Given the description of an element on the screen output the (x, y) to click on. 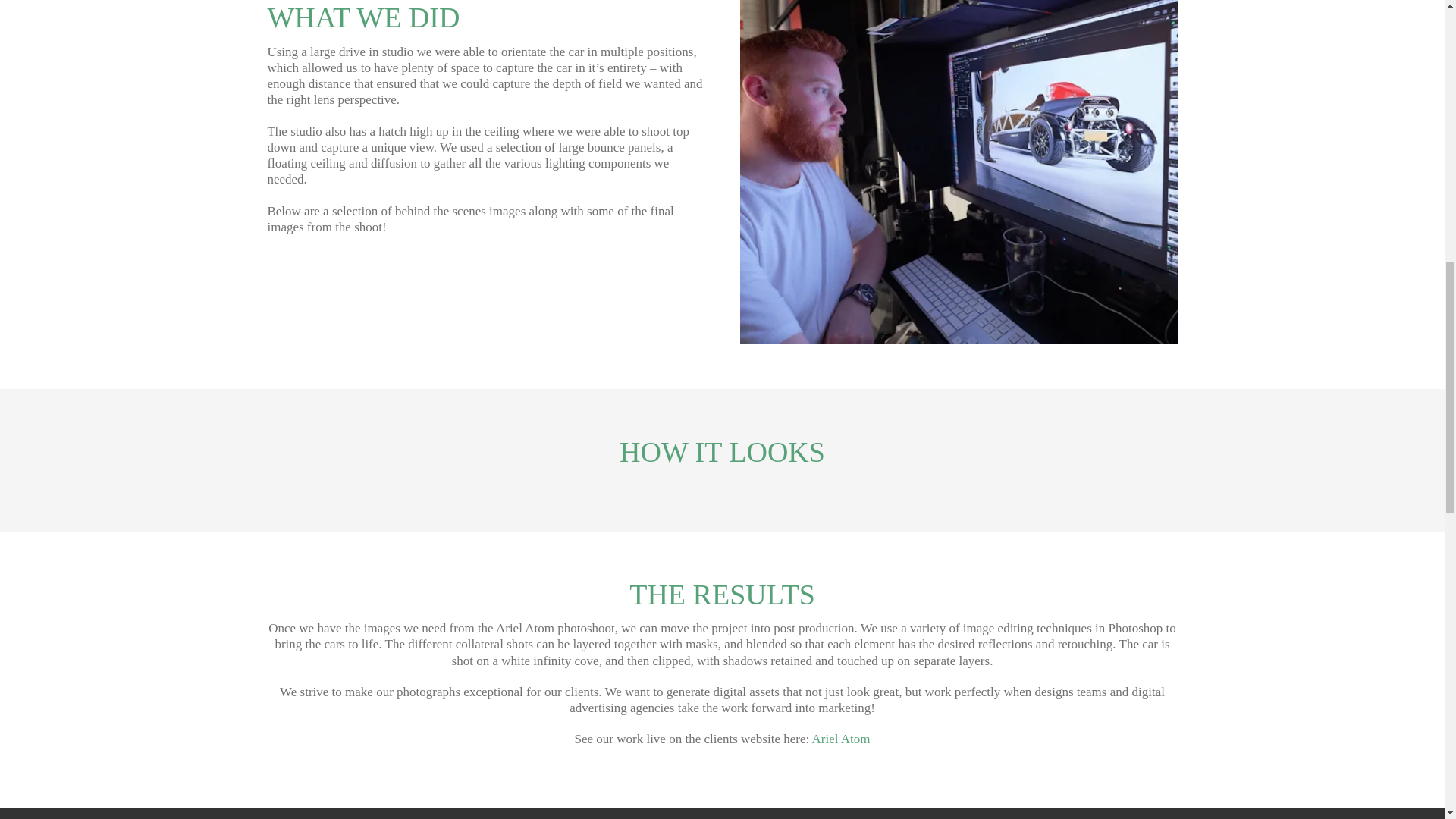
Ariel Atom (841, 739)
